Given the description of an element on the screen output the (x, y) to click on. 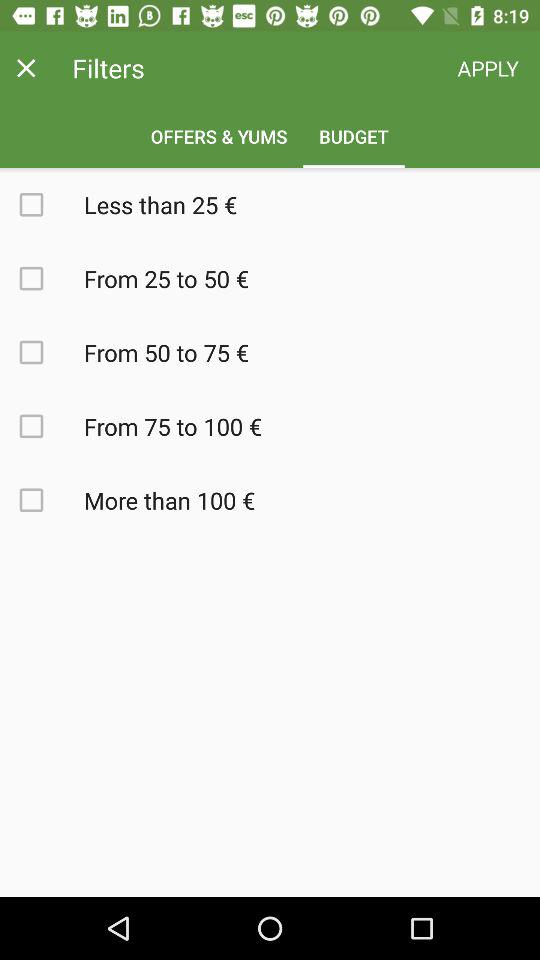
chosen option box (41, 500)
